Given the description of an element on the screen output the (x, y) to click on. 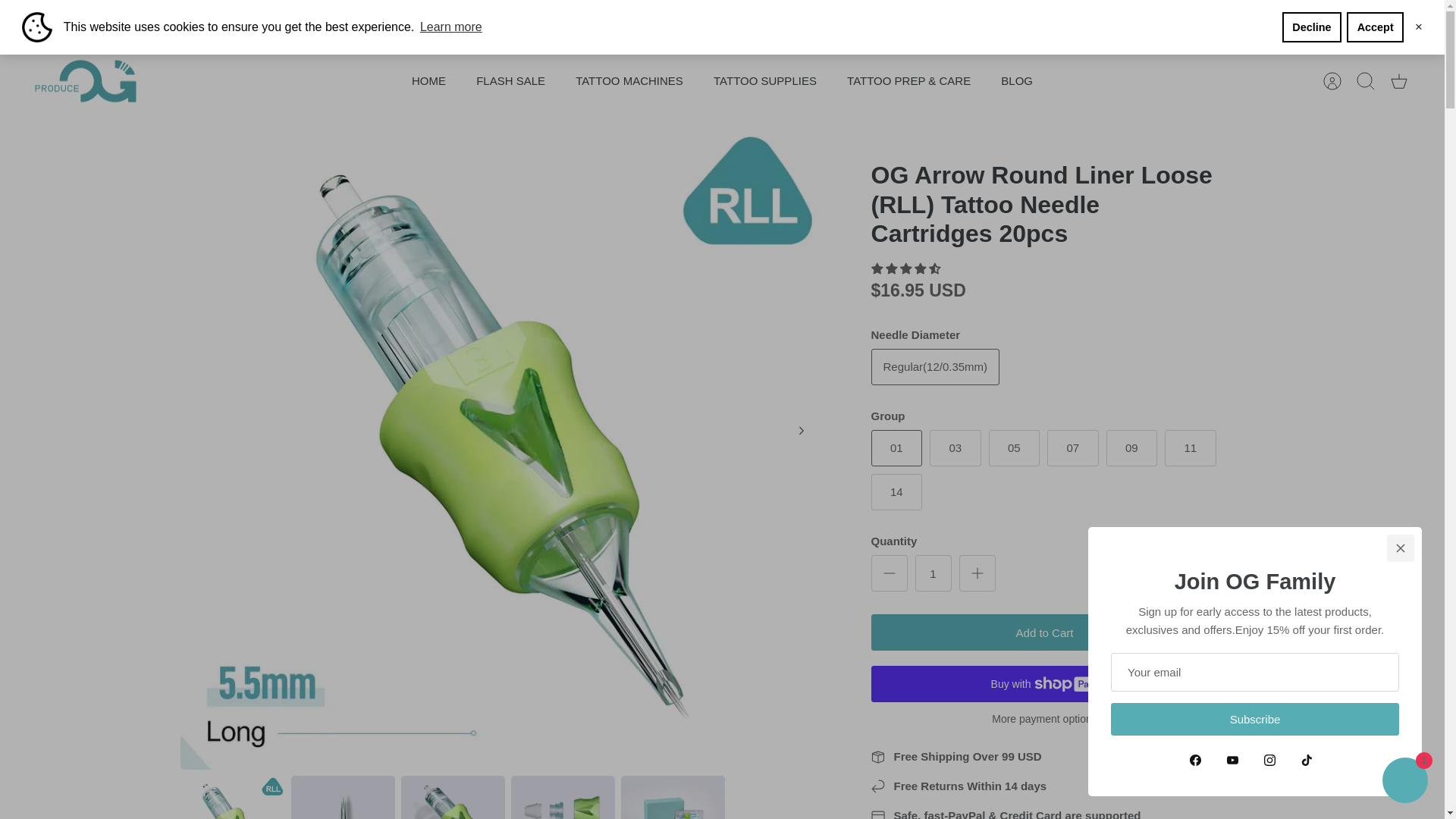
Best Sellers (721, 21)
BLOG (1016, 81)
Instagram (96, 21)
FREE SHIPPING OVER 99USD (721, 21)
TATTOO SUPPLIES (764, 81)
Search (1365, 80)
Youtube (66, 21)
TATTOO MACHINES (629, 81)
Account (1332, 80)
Youtube (66, 21)
Right (801, 430)
Instagram (95, 21)
OG PRODUCE (85, 81)
Shopify online store chat (1404, 781)
FLASH SALE (511, 81)
